Given the description of an element on the screen output the (x, y) to click on. 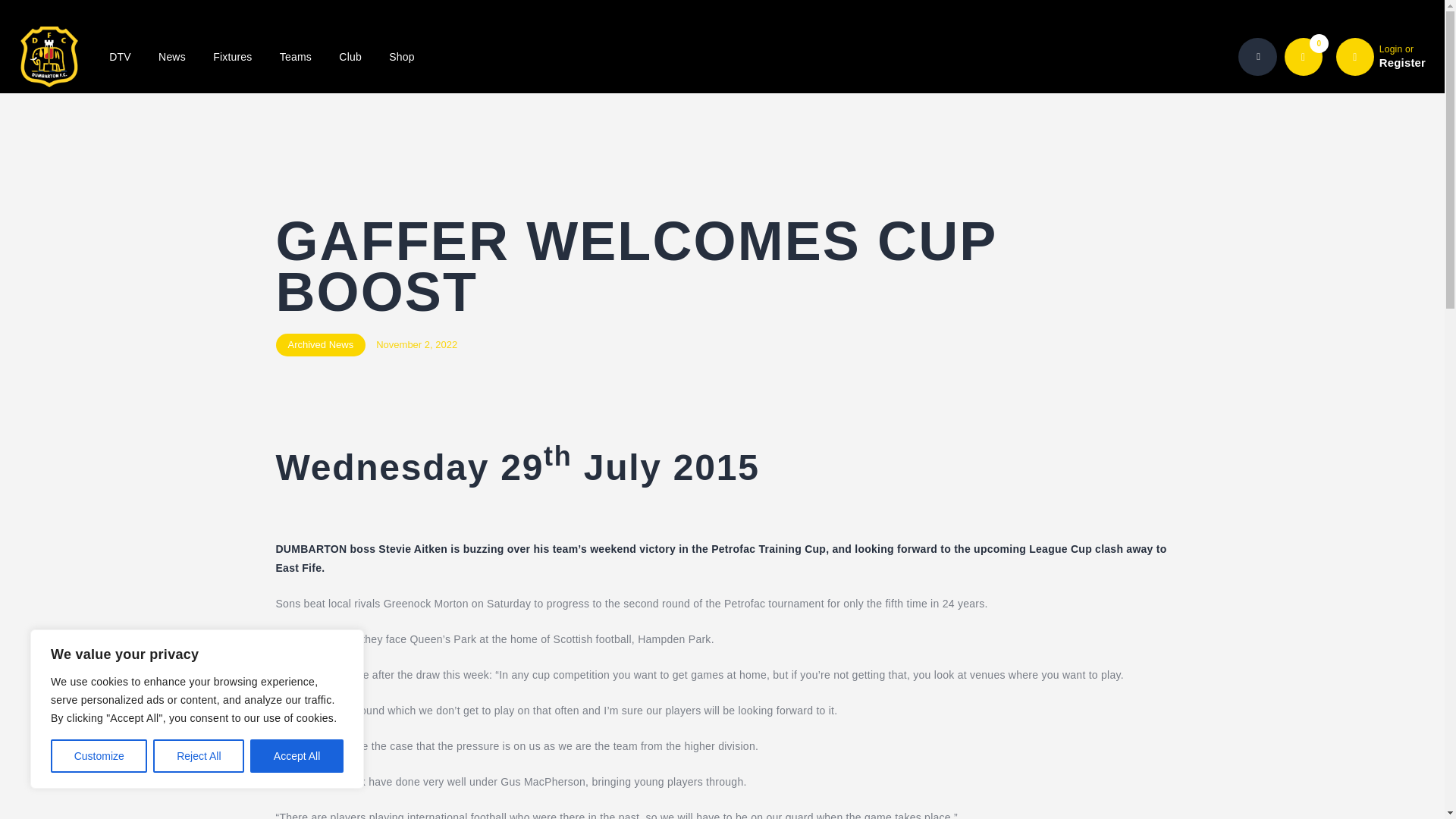
DTV (120, 57)
Reject All (198, 756)
Club (349, 57)
Customize (98, 756)
Shop (401, 57)
Teams (296, 57)
Fixtures (232, 57)
Accept All (296, 756)
News (171, 57)
